Given the description of an element on the screen output the (x, y) to click on. 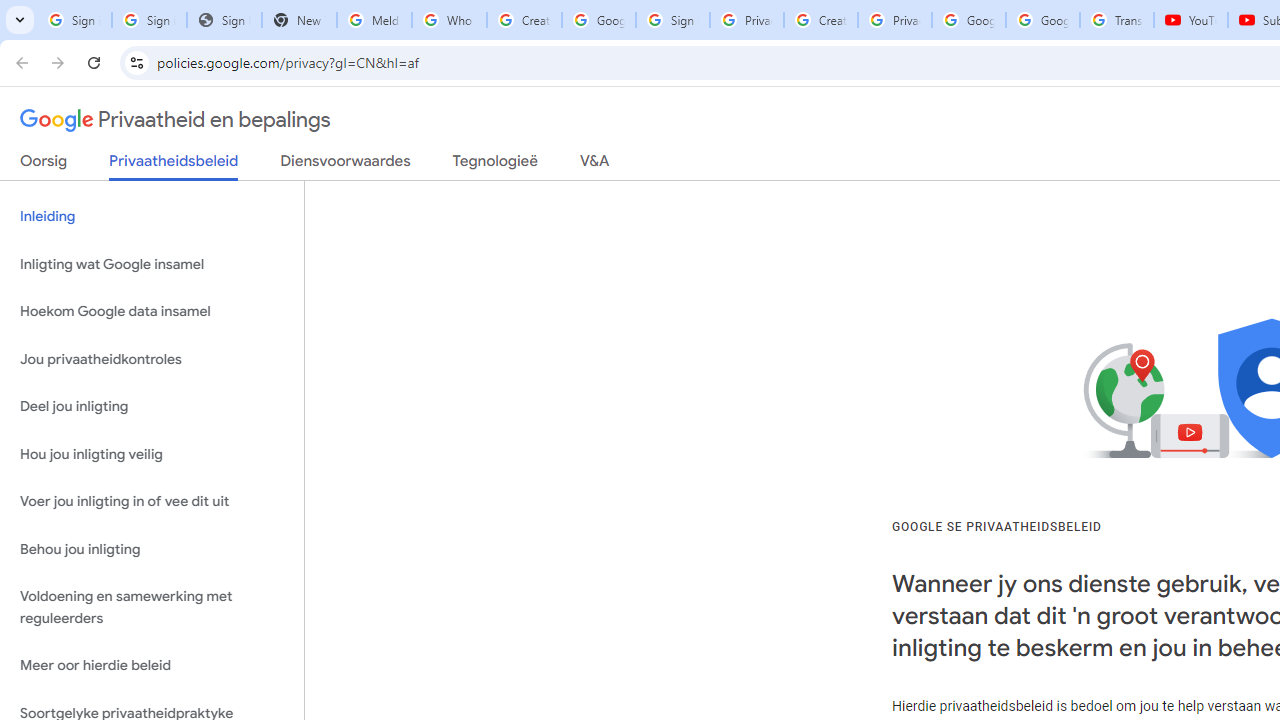
New Tab (299, 20)
YouTube (1190, 20)
Create your Google Account (523, 20)
Privaatheidsbeleid (173, 166)
V&A (594, 165)
Oorsig (43, 165)
